Given the description of an element on the screen output the (x, y) to click on. 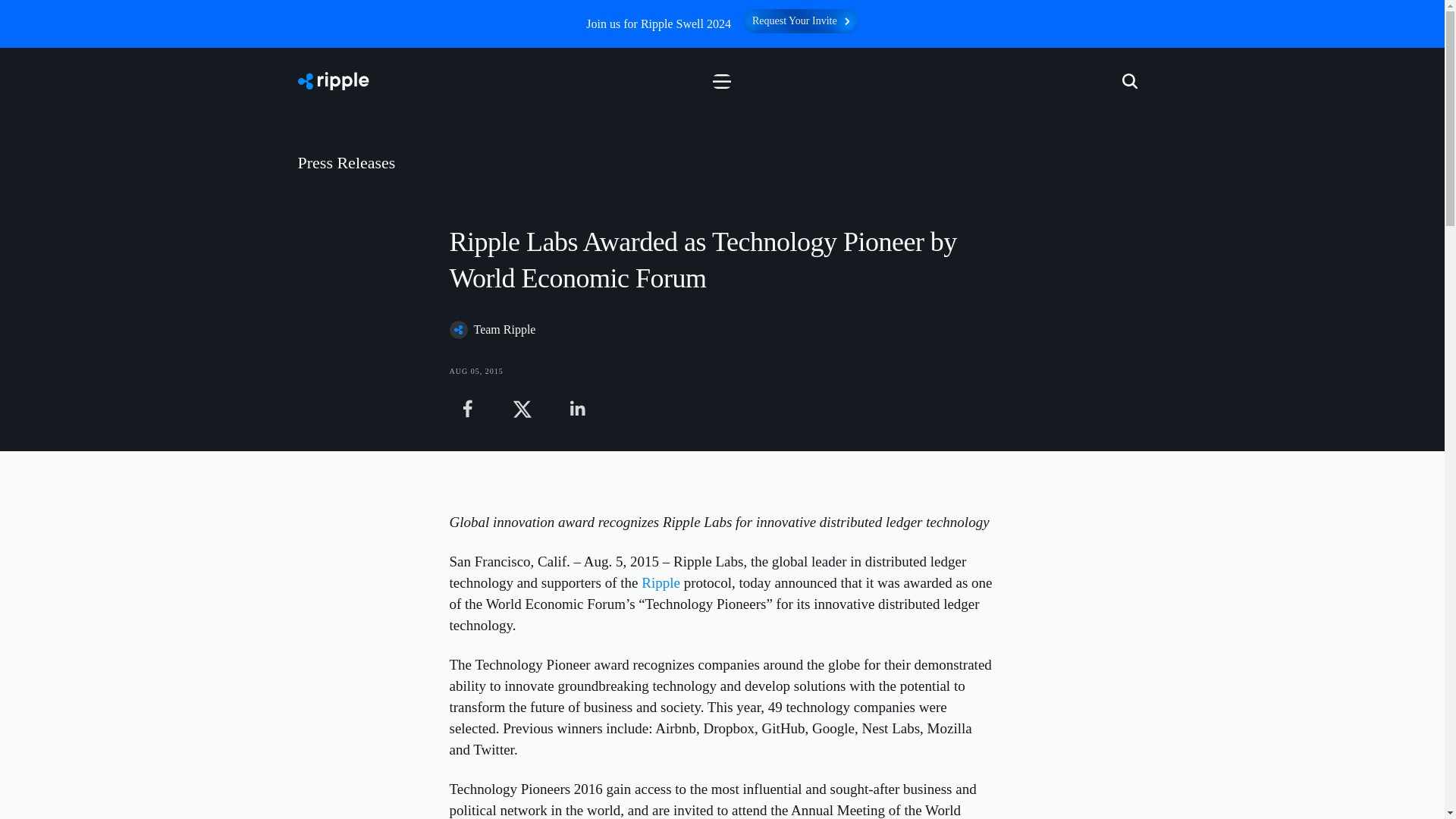
Request Your Invite (800, 21)
Press Releases (721, 162)
Request Your Invite (800, 29)
Ripple (660, 582)
